Given the description of an element on the screen output the (x, y) to click on. 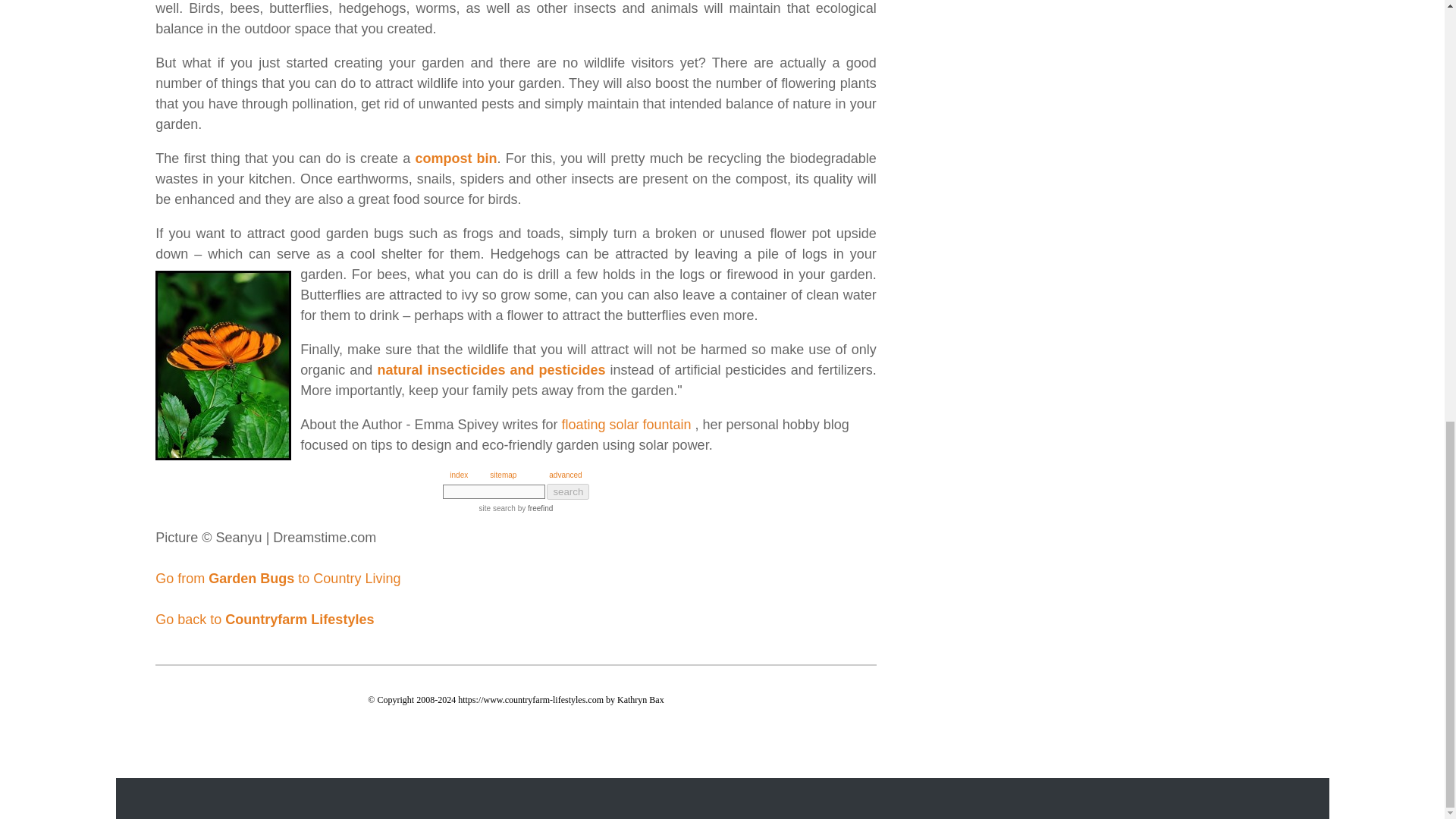
site search (497, 508)
Go from Garden Bugs to Country Living (277, 578)
compost bin (455, 158)
sitemap (502, 474)
natural insecticides and pesticides (491, 369)
search (568, 491)
Go back to Countryfarm Lifestyles (264, 619)
search (568, 491)
index (458, 474)
by freefind (534, 508)
advanced (564, 474)
floating solar fountain (625, 424)
